Given the description of an element on the screen output the (x, y) to click on. 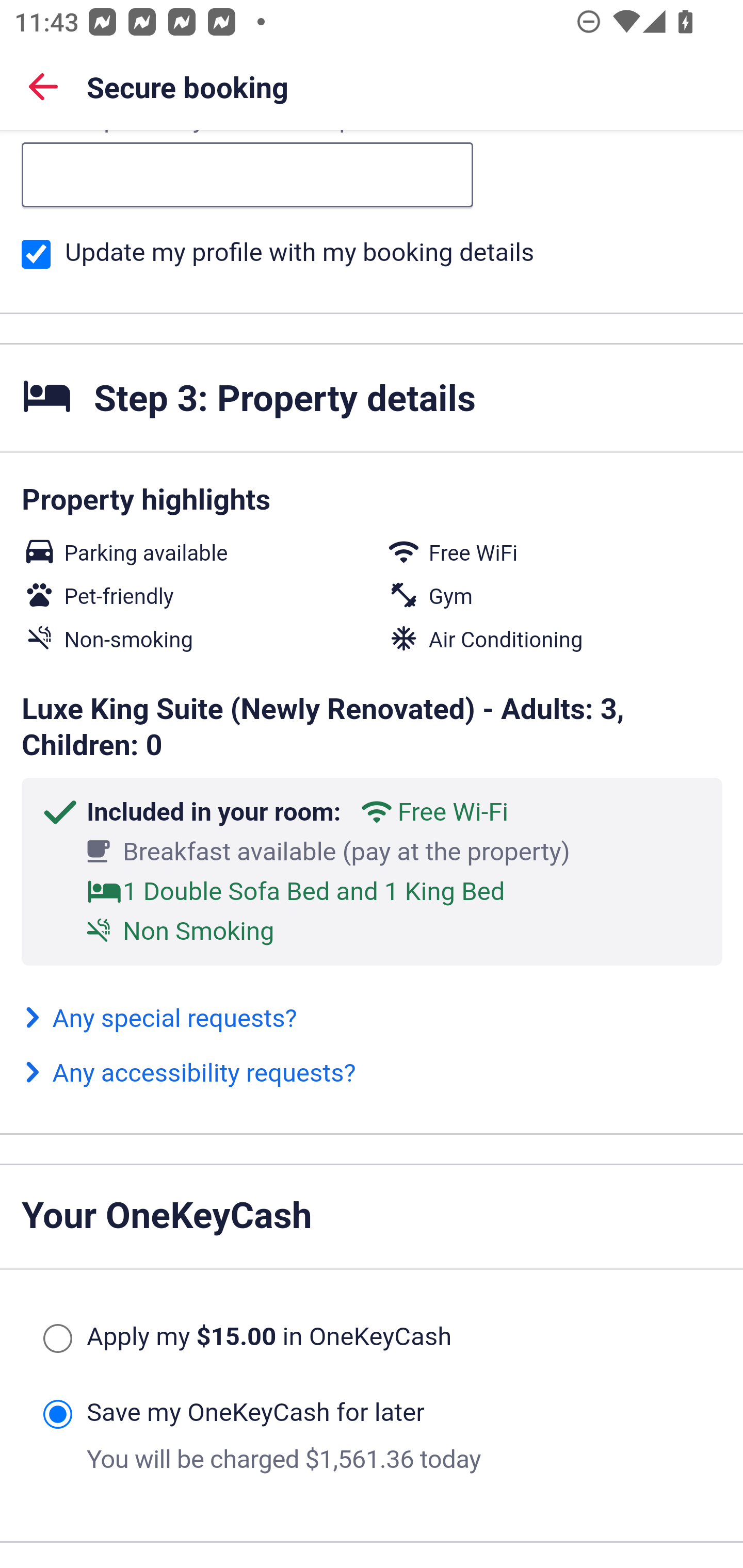
Back (43, 86)
Update my profile with my booking details (36, 255)
Any special requests? (159, 1019)
Any accessibility requests? (189, 1074)
Apply my $15.00 in OneKeyCash (57, 1339)
